Given the description of an element on the screen output the (x, y) to click on. 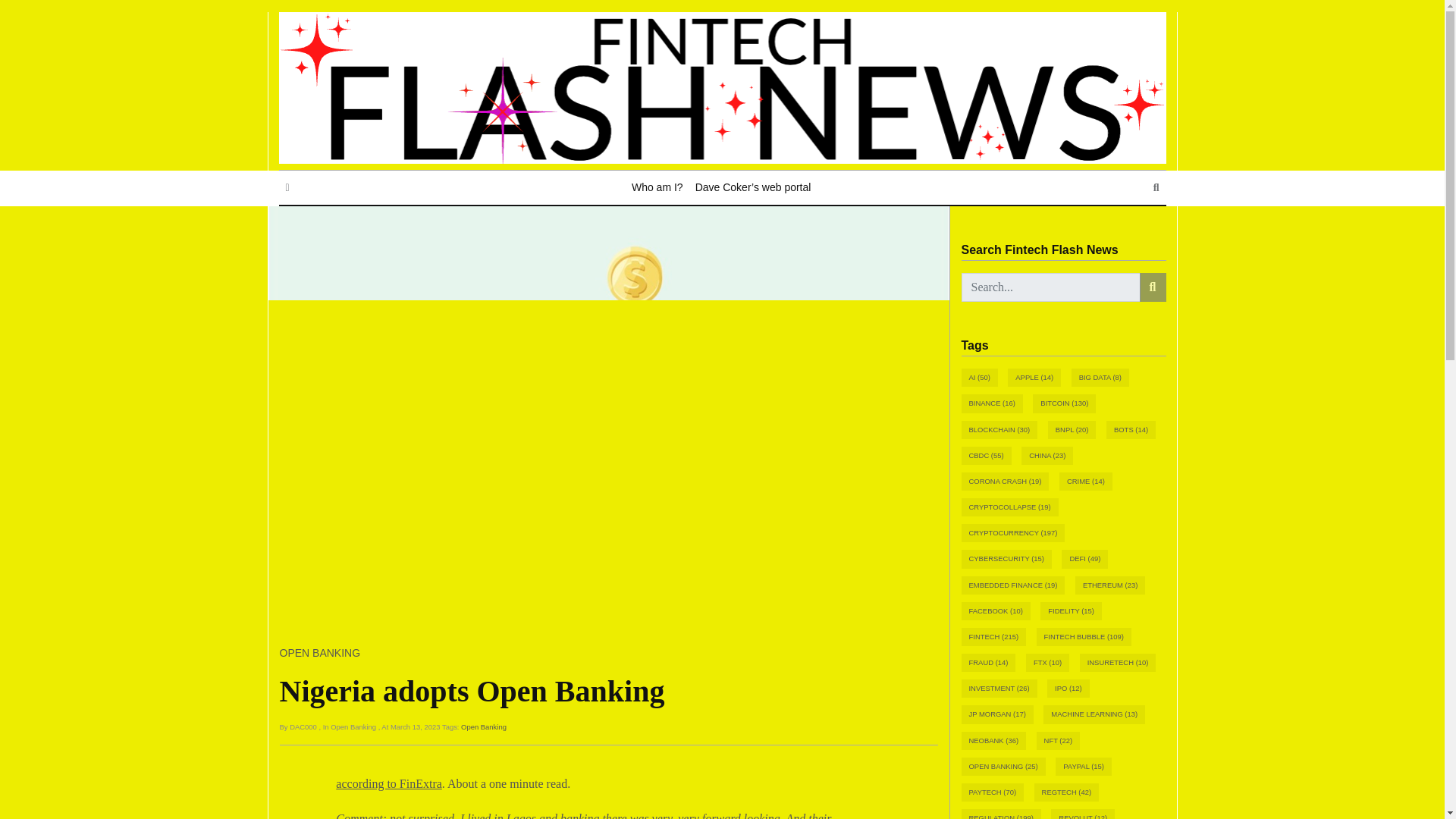
Who am I? (657, 187)
Open Banking (483, 726)
OPEN BANKING (319, 653)
Dave Coker's web portal (752, 187)
Who am I? (657, 187)
according to FinExtra (389, 783)
